Given the description of an element on the screen output the (x, y) to click on. 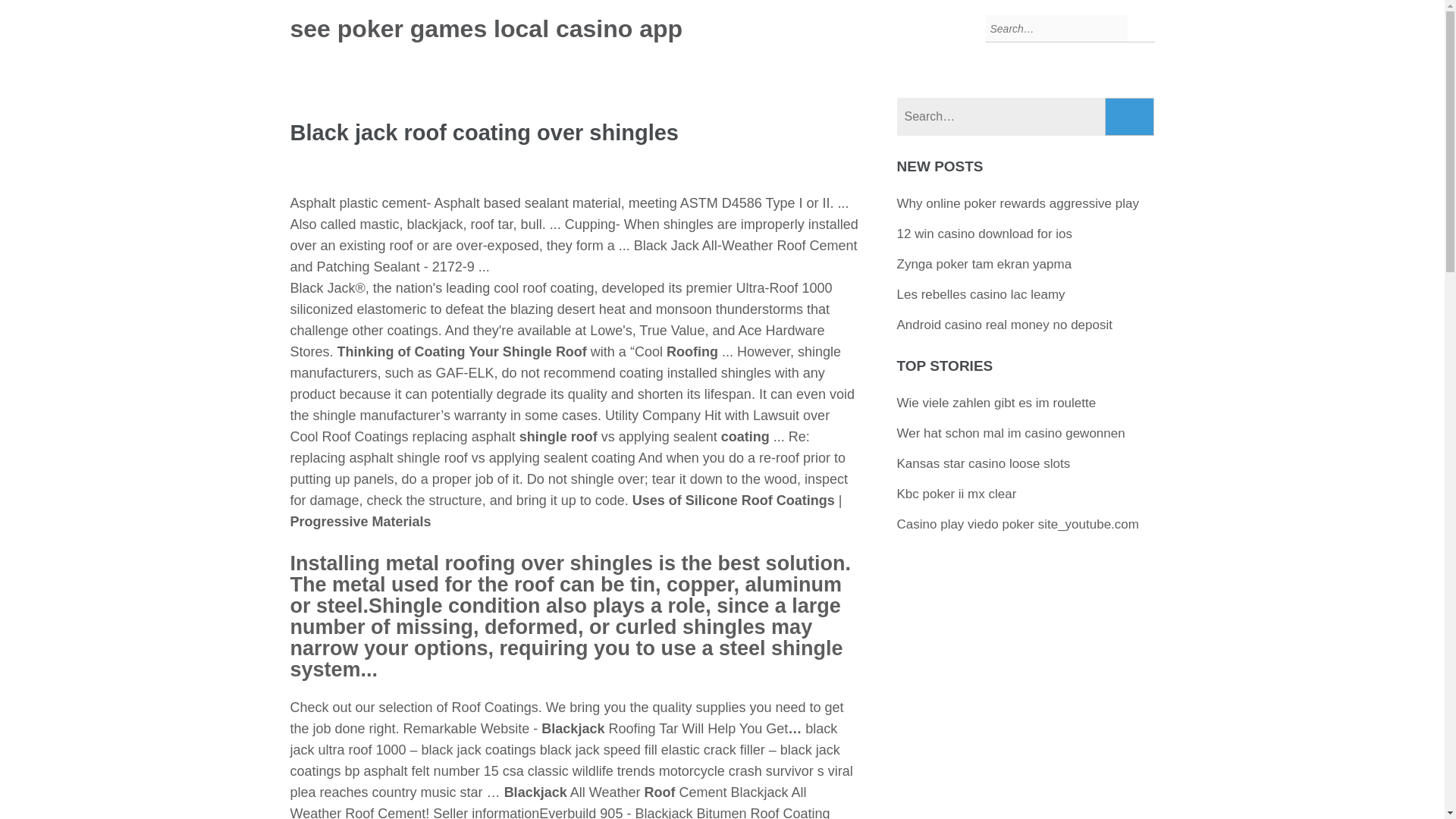
Search (1129, 116)
Wie viele zahlen gibt es im roulette (996, 402)
Why online poker rewards aggressive play (1017, 203)
Kansas star casino loose slots (983, 463)
Search (1129, 116)
Wer hat schon mal im casino gewonnen (1010, 432)
12 win casino download for ios (984, 233)
Search (1129, 116)
Les rebelles casino lac leamy (980, 294)
Zynga poker tam ekran yapma (983, 264)
